Given the description of an element on the screen output the (x, y) to click on. 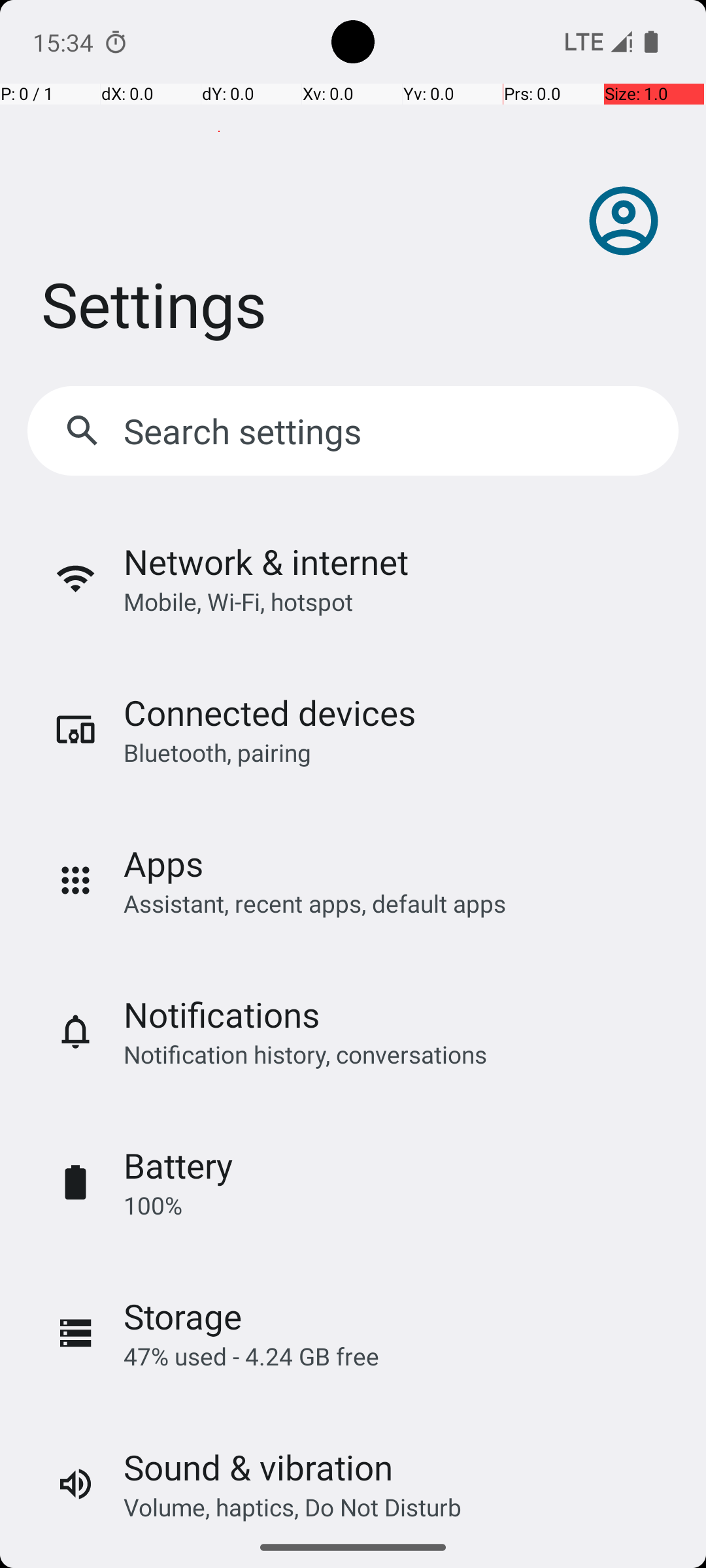
47% used - 4.24 GB free Element type: android.widget.TextView (251, 1355)
